Given the description of an element on the screen output the (x, y) to click on. 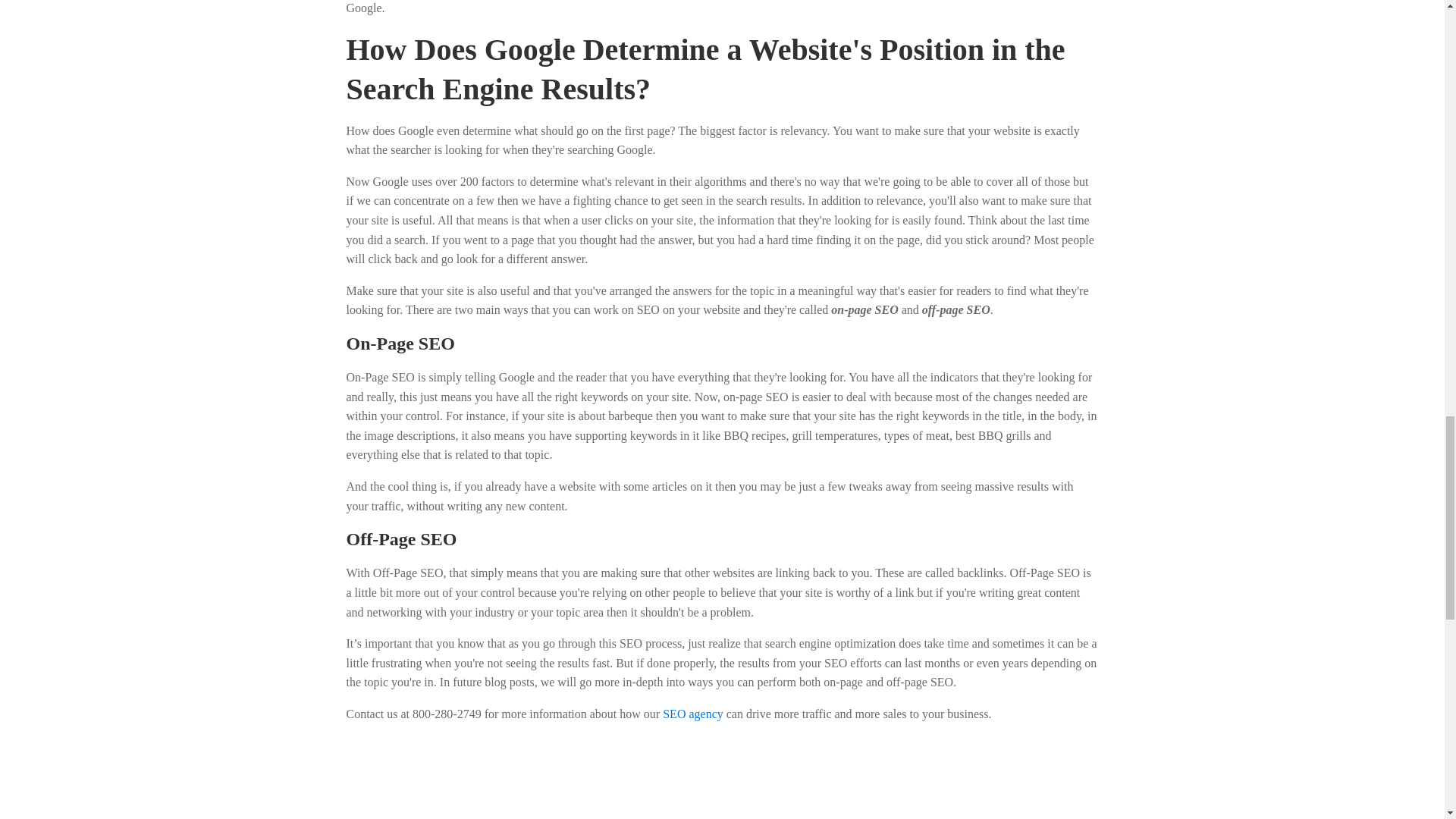
SEO agency (692, 713)
